Given the description of an element on the screen output the (x, y) to click on. 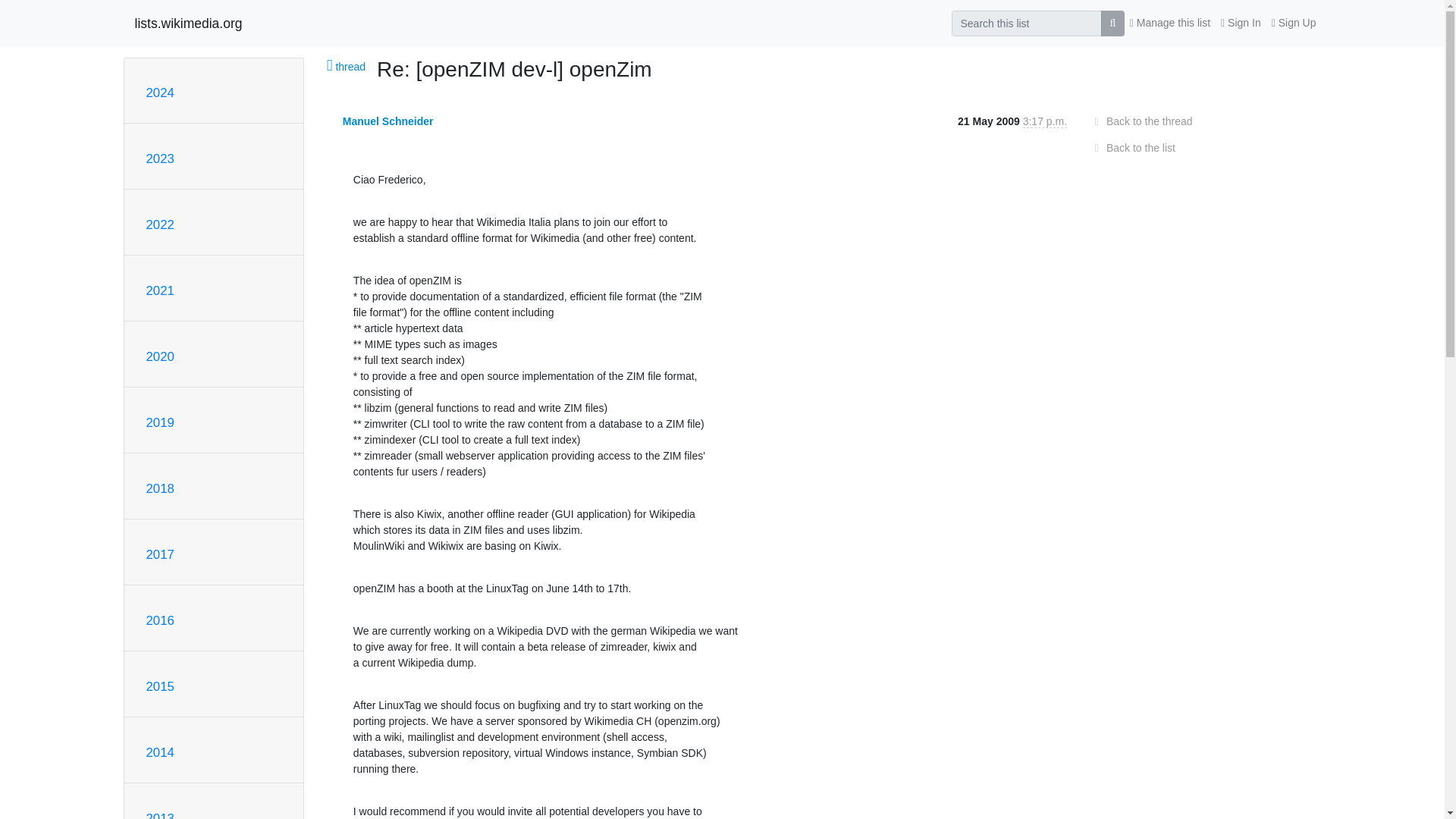
Sign In (1240, 22)
2024 (159, 92)
2023 (159, 158)
lists.wikimedia.org (189, 22)
Sender's time: May 21, 2009, 10:17 p.m. (1045, 121)
See the profile for Manuel Schneider (387, 121)
Manage this list (1169, 22)
2022 (159, 224)
Sign Up (1294, 22)
